Given the description of an element on the screen output the (x, y) to click on. 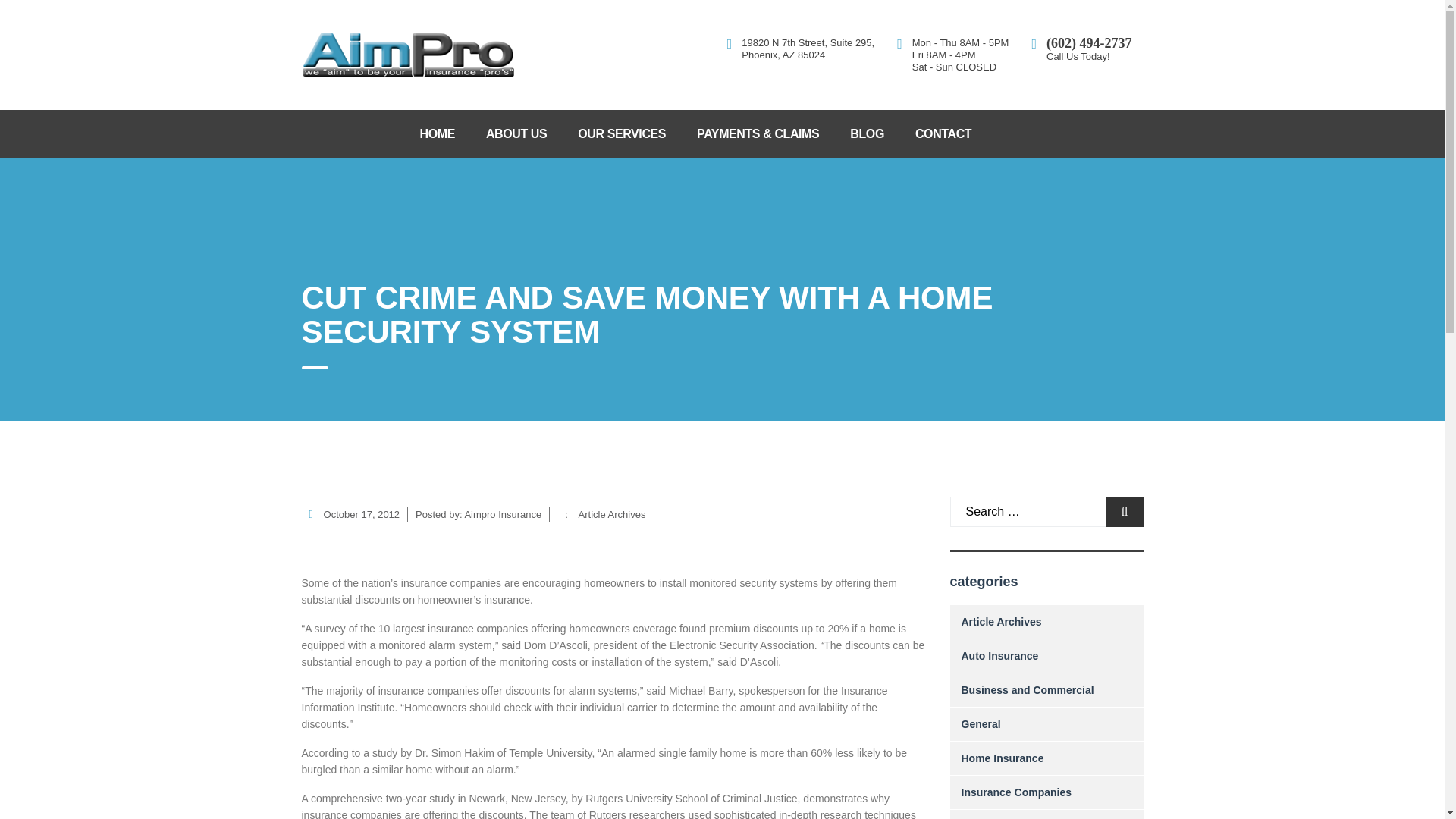
Auto Insurance (999, 655)
OUR SERVICES (621, 134)
BLOG (866, 134)
HOME (445, 134)
Home Insurance (1001, 758)
ABOUT US (516, 134)
General (980, 724)
Insurance Companies (1015, 792)
Business and Commercial (1027, 689)
Article Archives (1001, 621)
Article Archives (612, 514)
CONTACT (943, 134)
